Given the description of an element on the screen output the (x, y) to click on. 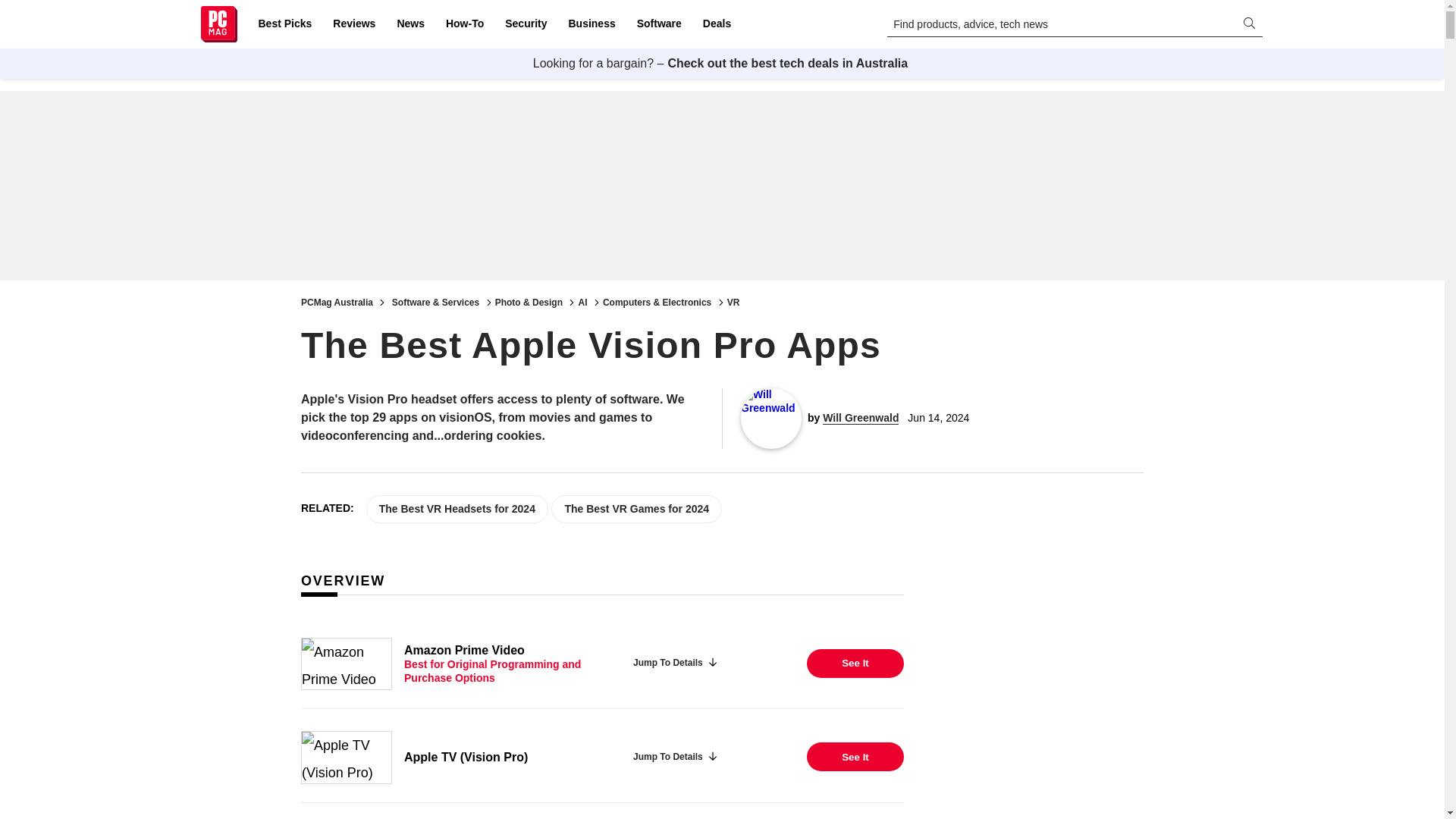
Business (591, 24)
Security (526, 24)
Reviews (353, 24)
How-To (464, 24)
Best Picks (284, 24)
